Given the description of an element on the screen output the (x, y) to click on. 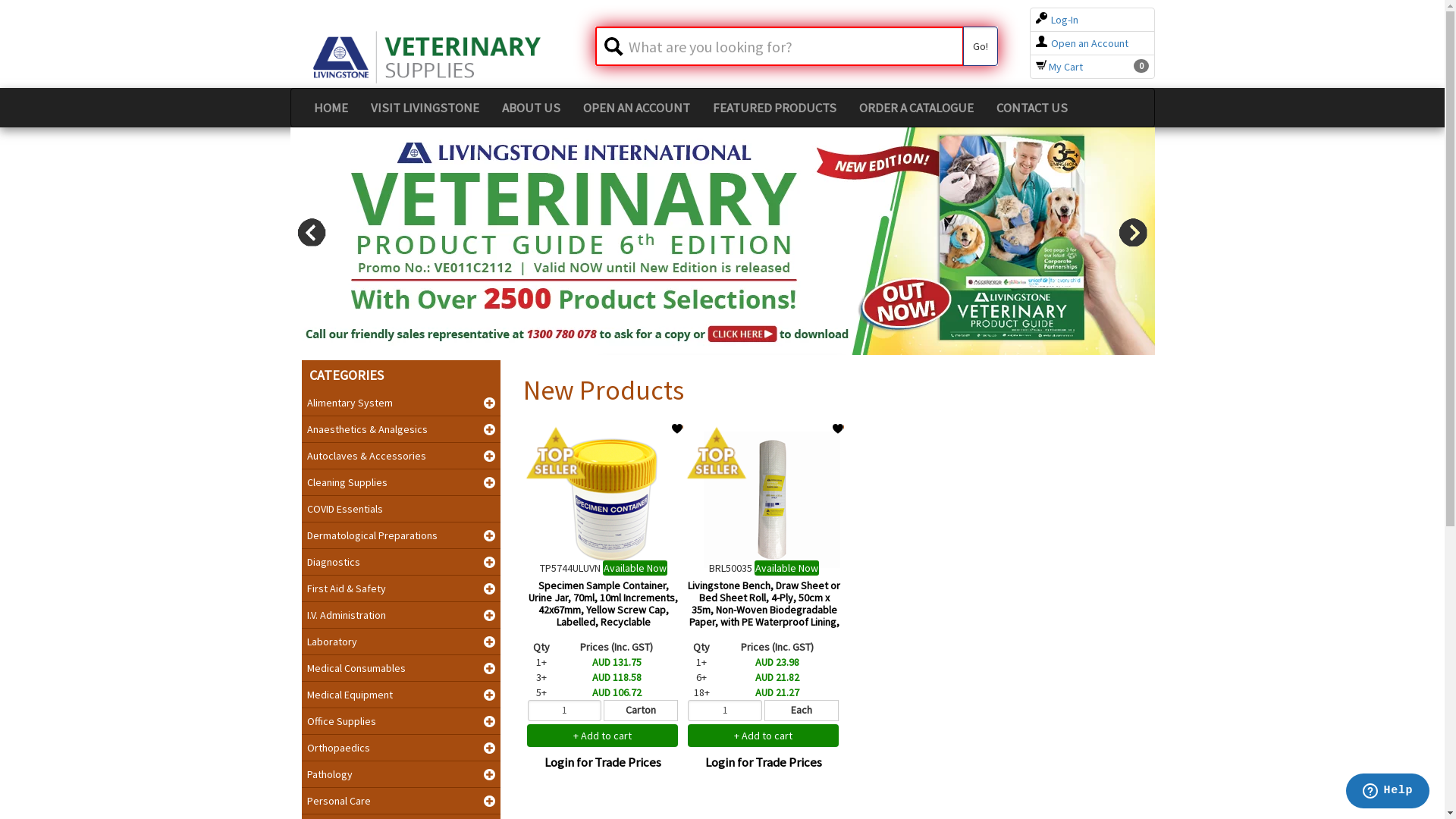
Alimentary System Element type: text (401, 402)
Medical Consumables Element type: text (401, 667)
Office Supplies Element type: text (401, 721)
+ Add to cart Element type: text (762, 735)
Anaesthetics & Analgesics Element type: text (401, 429)
Orthopaedics Element type: text (401, 747)
Cleaning Supplies Element type: text (401, 482)
Open an Account Element type: text (1081, 43)
Medical Equipment Element type: text (401, 694)
Add to Favourite Element type: hover (838, 429)
VISIT LIVINGSTONE Element type: text (424, 107)
First Aid & Safety Element type: text (401, 588)
Go! Element type: text (980, 45)
COVID Essentials Element type: text (401, 508)
Prev Element type: text (311, 232)
Diagnostics Element type: text (401, 561)
FEATURED PRODUCTS Element type: text (773, 107)
Next Element type: text (1133, 232)
ORDER A CATALOGUE Element type: text (916, 107)
CONTACT US Element type: text (1031, 107)
Login for Trade Prices Element type: text (763, 761)
Dermatological Preparations Element type: text (401, 535)
Login for Trade Prices Element type: text (602, 761)
My Cart Element type: text (1058, 66)
HOME Element type: text (329, 107)
Personal Care Element type: text (401, 800)
Laboratory Element type: text (401, 641)
ABOUT US Element type: text (530, 107)
Add to Favourite Element type: hover (677, 429)
I.V. Administration Element type: text (401, 614)
+ Add to cart Element type: text (602, 735)
OPEN AN ACCOUNT Element type: text (636, 107)
Opens a widget where you can chat to one of our agents Element type: hover (1387, 792)
Log-In Element type: text (1056, 19)
Autoclaves & Accessories Element type: text (401, 455)
Pathology Element type: text (401, 774)
